Given the description of an element on the screen output the (x, y) to click on. 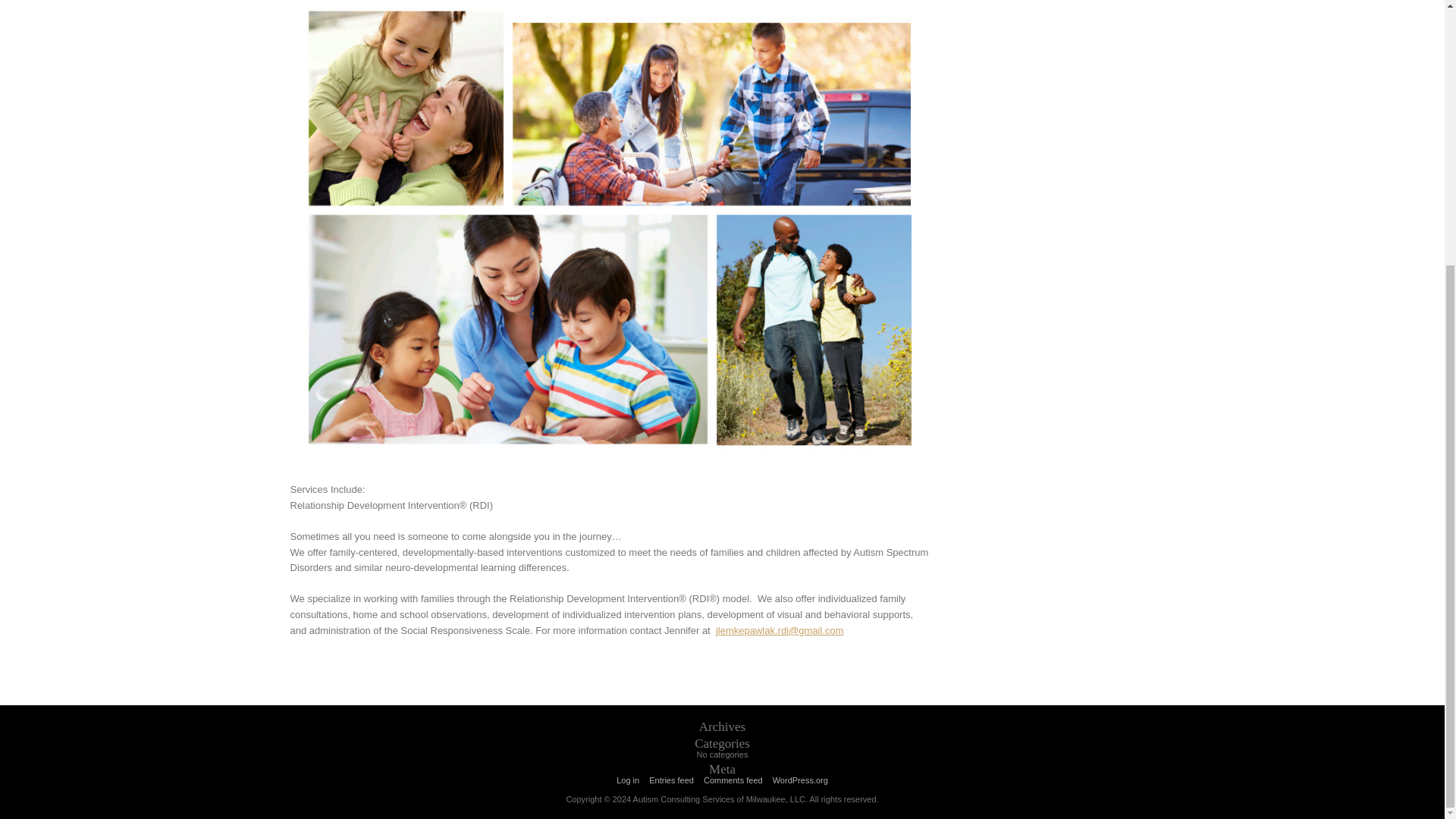
WordPress.org (800, 779)
Comments feed (732, 779)
Entries feed (671, 779)
Log in (627, 779)
